Given the description of an element on the screen output the (x, y) to click on. 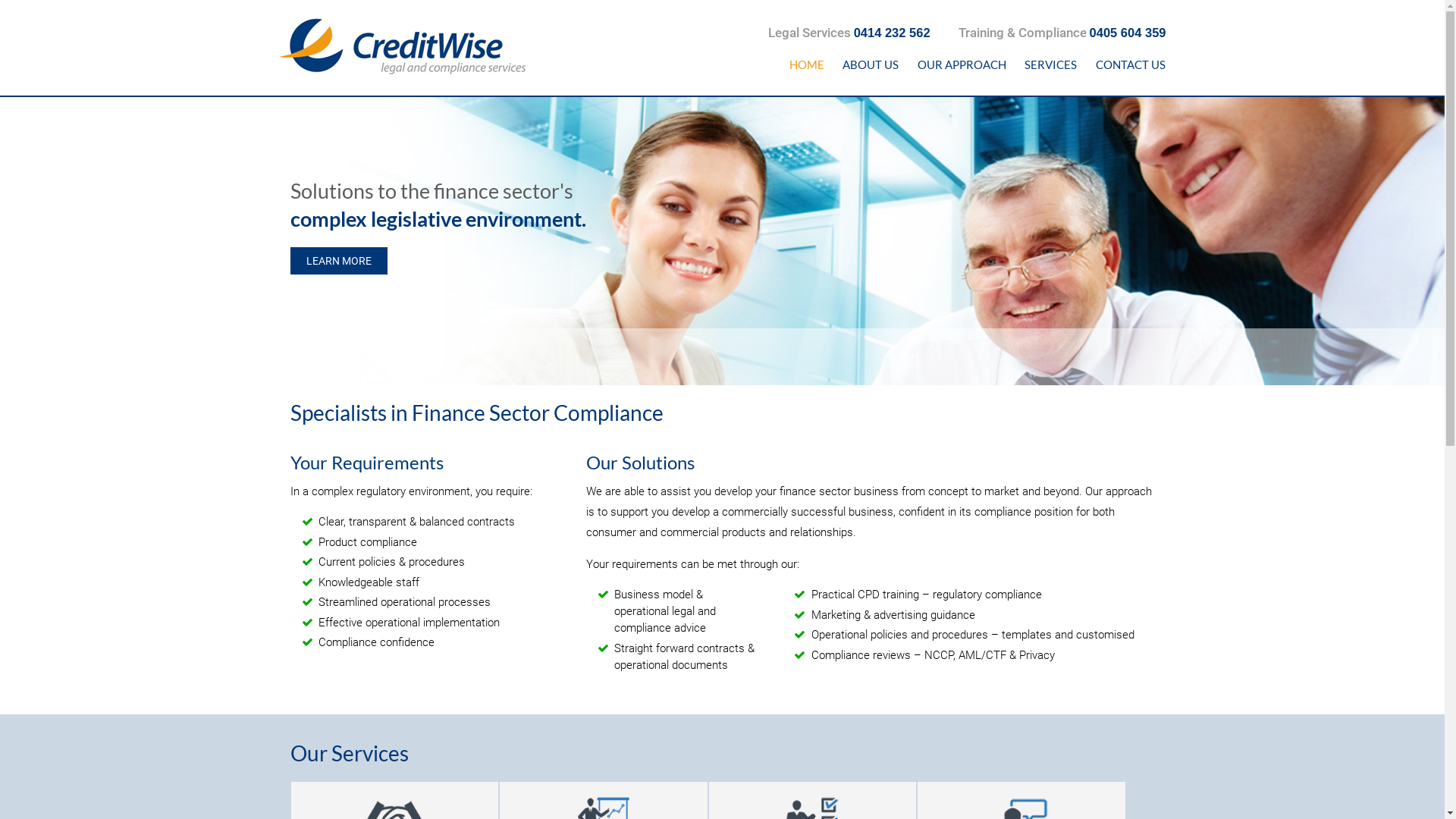
0405 604 359 Element type: text (1127, 32)
SERVICES Element type: text (1050, 64)
OUR APPROACH Element type: text (961, 64)
0414 232 562 Element type: text (891, 32)
CONTACT US Element type: text (1129, 64)
HOME Element type: text (806, 64)
LEARN MORE Element type: text (337, 261)
ABOUT US Element type: text (870, 64)
